Given the description of an element on the screen output the (x, y) to click on. 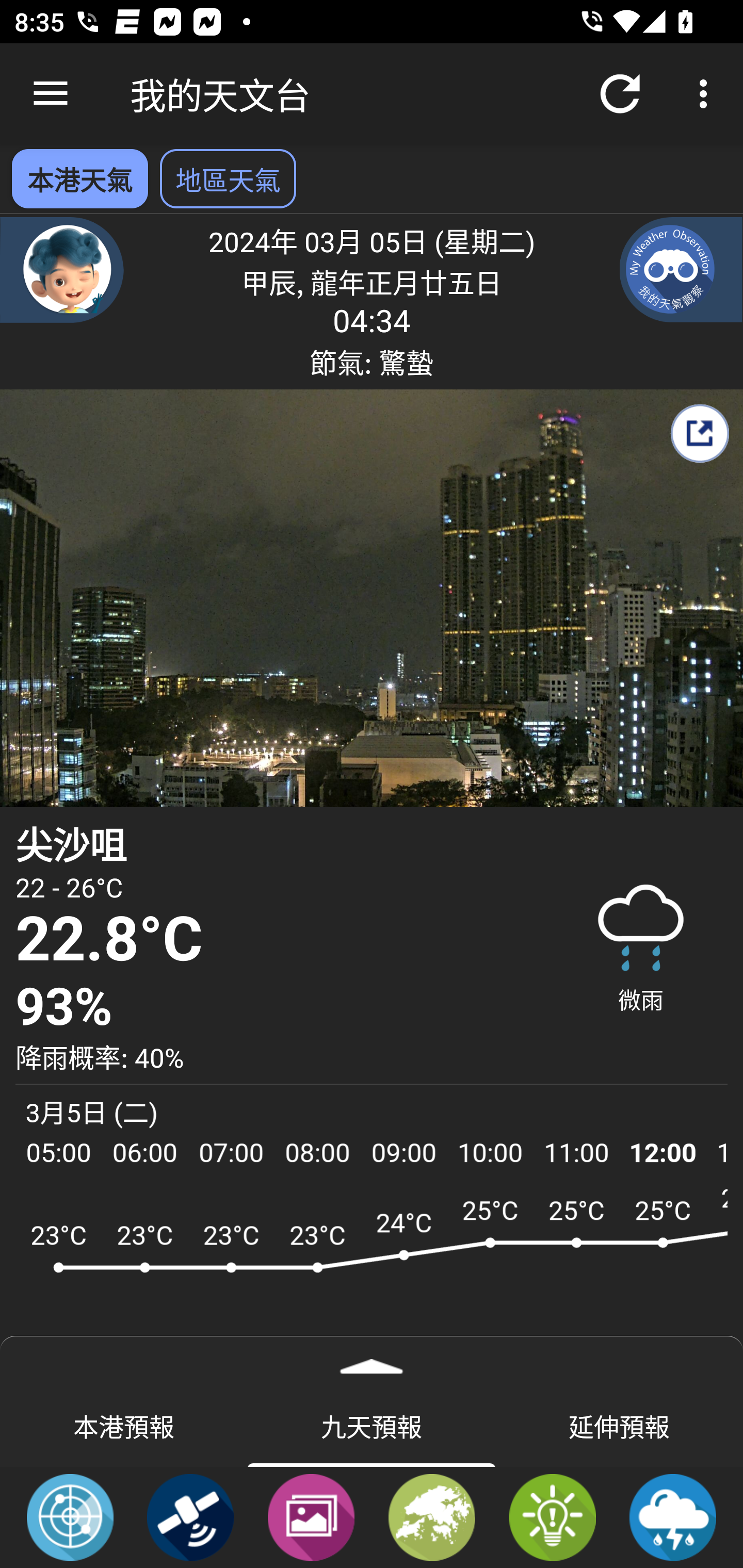
向上瀏覽 (50, 93)
重新整理 (619, 93)
更多選項 (706, 93)
本港天氣 已選擇 本港天氣 (79, 178)
地區天氣 選擇 地區天氣 (227, 178)
聊天機械人 (62, 269)
我的天氣觀察 (680, 269)
分享我的天氣報告 (699, 433)
22.8°C 氣溫22.8攝氏度 (276, 939)
93% 相對濕度百分之93 (276, 1007)
九天自動天氣預報 圖片
輕按進入內頁，即可了解詳細資料。 ARWF (371, 1275)
展開 (371, 1358)
本港預報 (123, 1424)
延伸預報 (619, 1424)
雷達圖像 (69, 1516)
衛星圖像 (190, 1516)
天氣照片 (310, 1516)
分區天氣 (431, 1516)
天氣提示 (551, 1516)
定點降雨及閃電預報 (672, 1516)
